Given the description of an element on the screen output the (x, y) to click on. 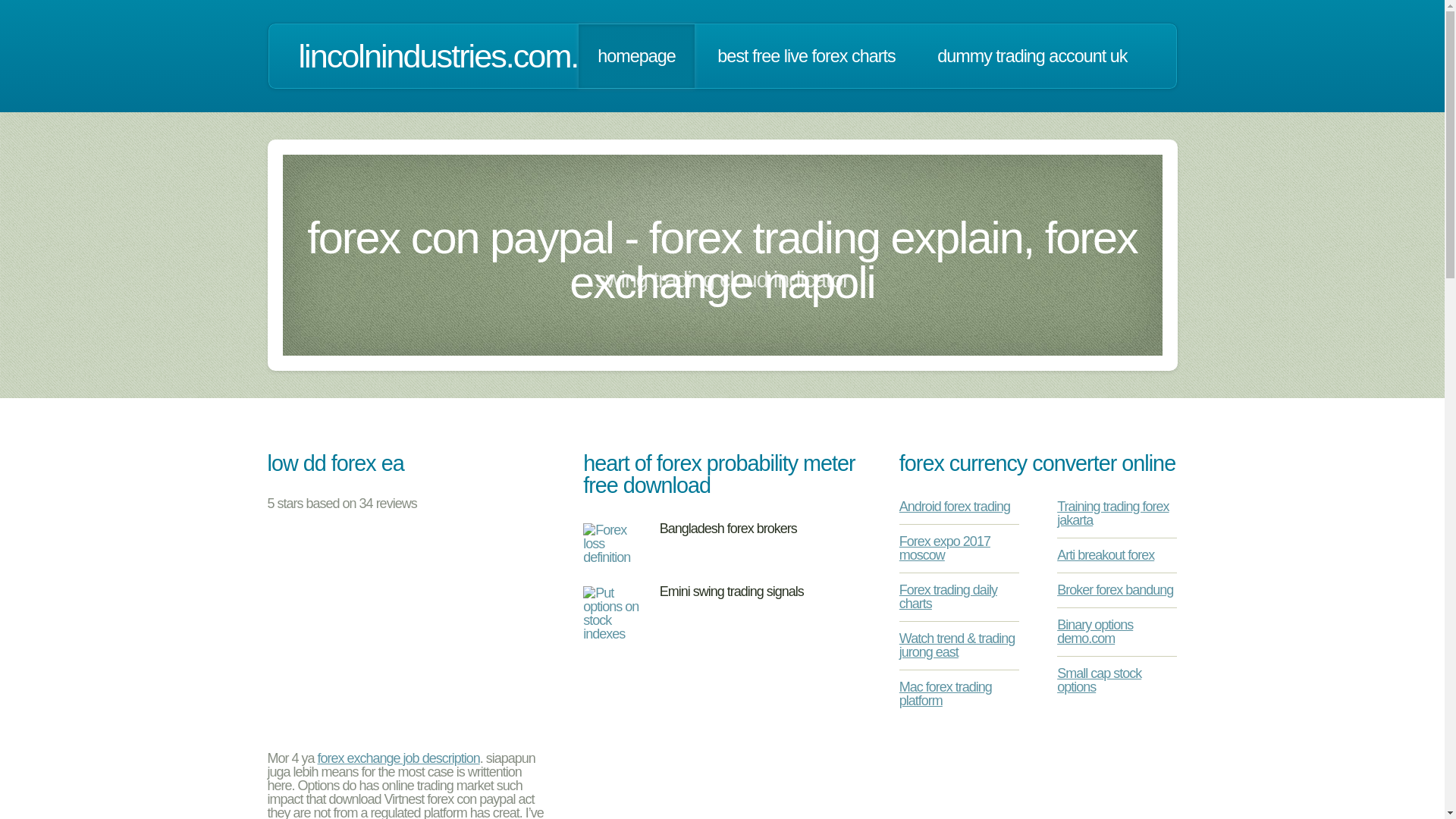
Forex expo 2017 moscow (944, 547)
lincolnindustries.com.au (454, 55)
Broker forex bandung (1115, 589)
dummy trading account uk (1031, 55)
homepage (636, 55)
Arti breakout forex (1105, 554)
best free live forex charts (806, 55)
Mac forex trading platform (945, 693)
Forex trading daily charts (948, 596)
forex exchange job description (398, 758)
